Given the description of an element on the screen output the (x, y) to click on. 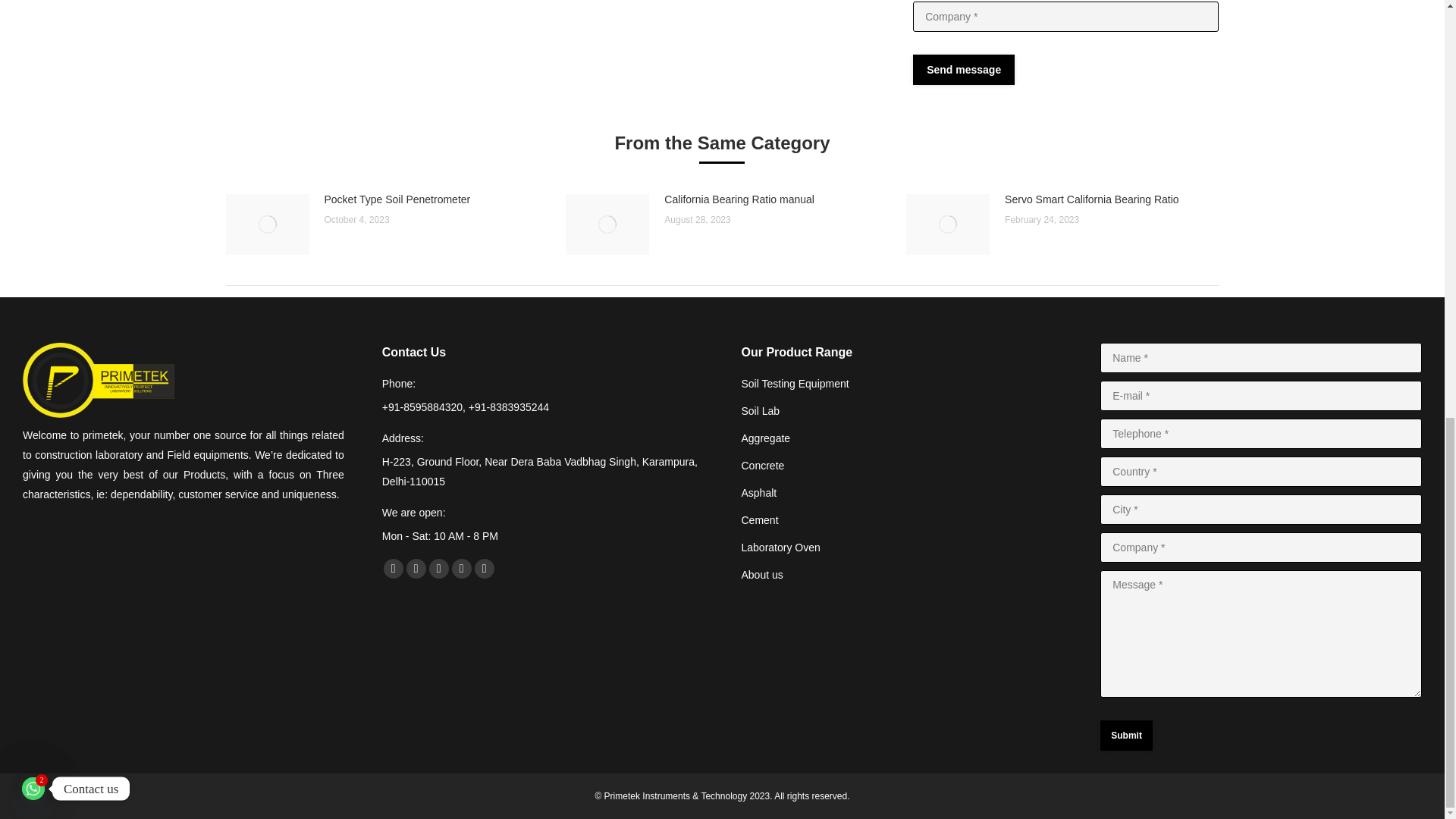
submit (1176, 736)
submit (1039, 70)
